Given the description of an element on the screen output the (x, y) to click on. 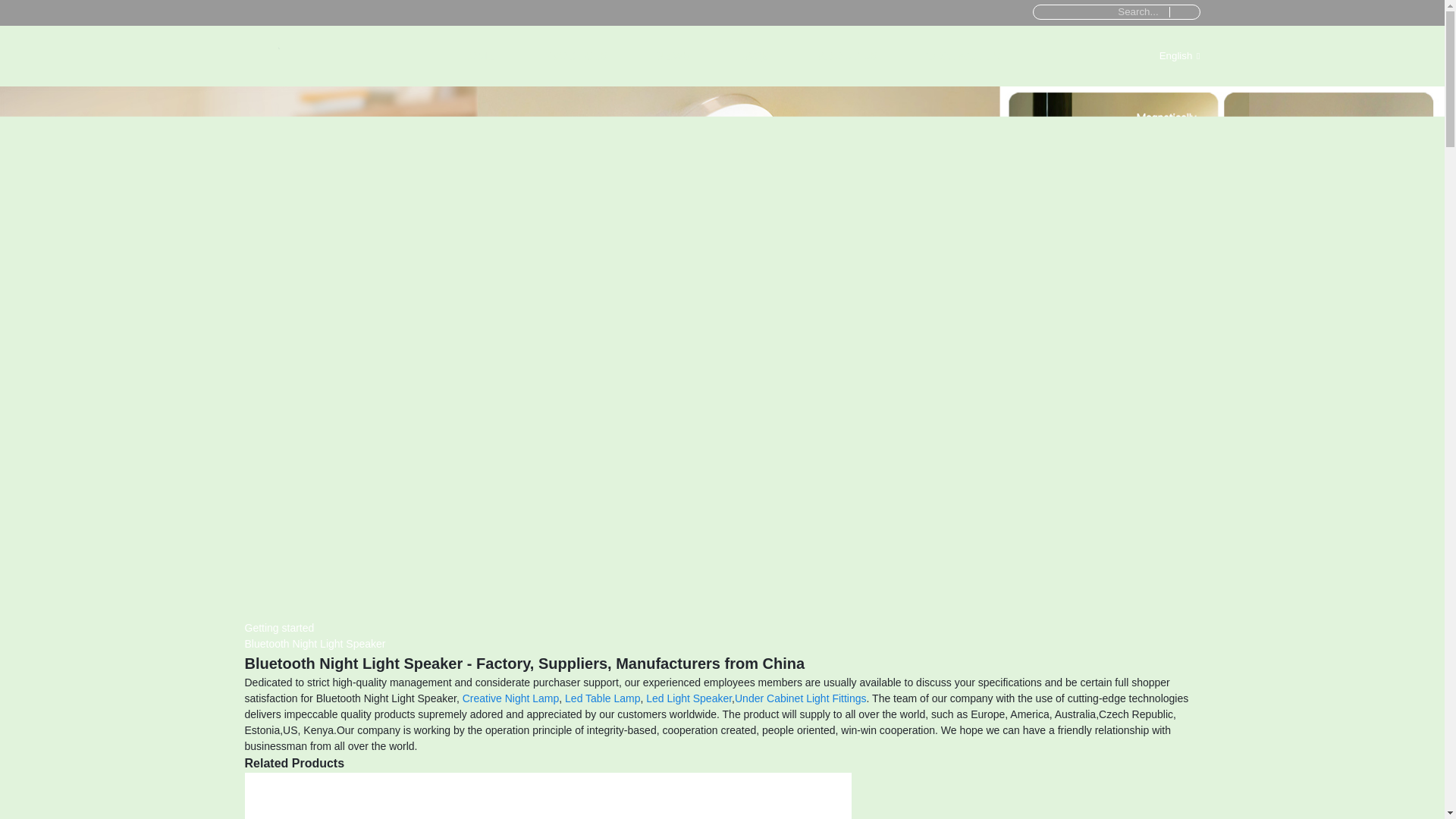
Led Table Lamp (602, 698)
English (1166, 55)
PRODUCTS (575, 55)
CONTACT US (962, 55)
Led Light Speaker (689, 698)
Creative Night Lamp (511, 698)
Bluetooth Night Light Speaker (314, 644)
ABOUT US (847, 55)
NEWS (672, 55)
Led Light Speaker (689, 698)
